Given the description of an element on the screen output the (x, y) to click on. 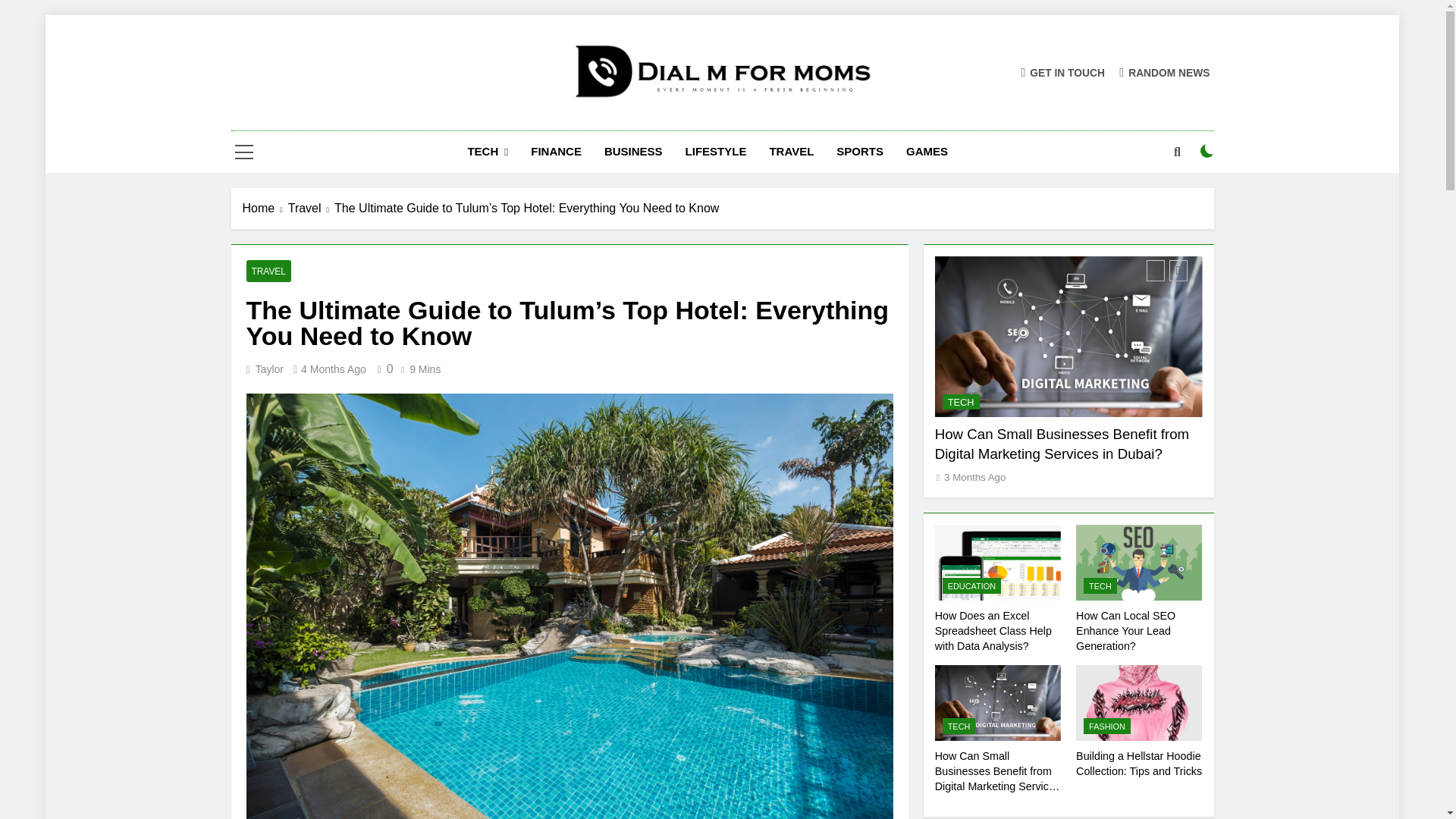
LIFESTYLE (716, 151)
0 (382, 368)
Dial M For Moms (611, 122)
GAMES (927, 151)
BUSINESS (633, 151)
TRAVEL (791, 151)
4 Months Ago (333, 369)
GET IN TOUCH (1061, 72)
Travel (311, 208)
on (1206, 151)
TRAVEL (267, 270)
Home (265, 208)
SPORTS (860, 151)
Taylor (269, 369)
